Given the description of an element on the screen output the (x, y) to click on. 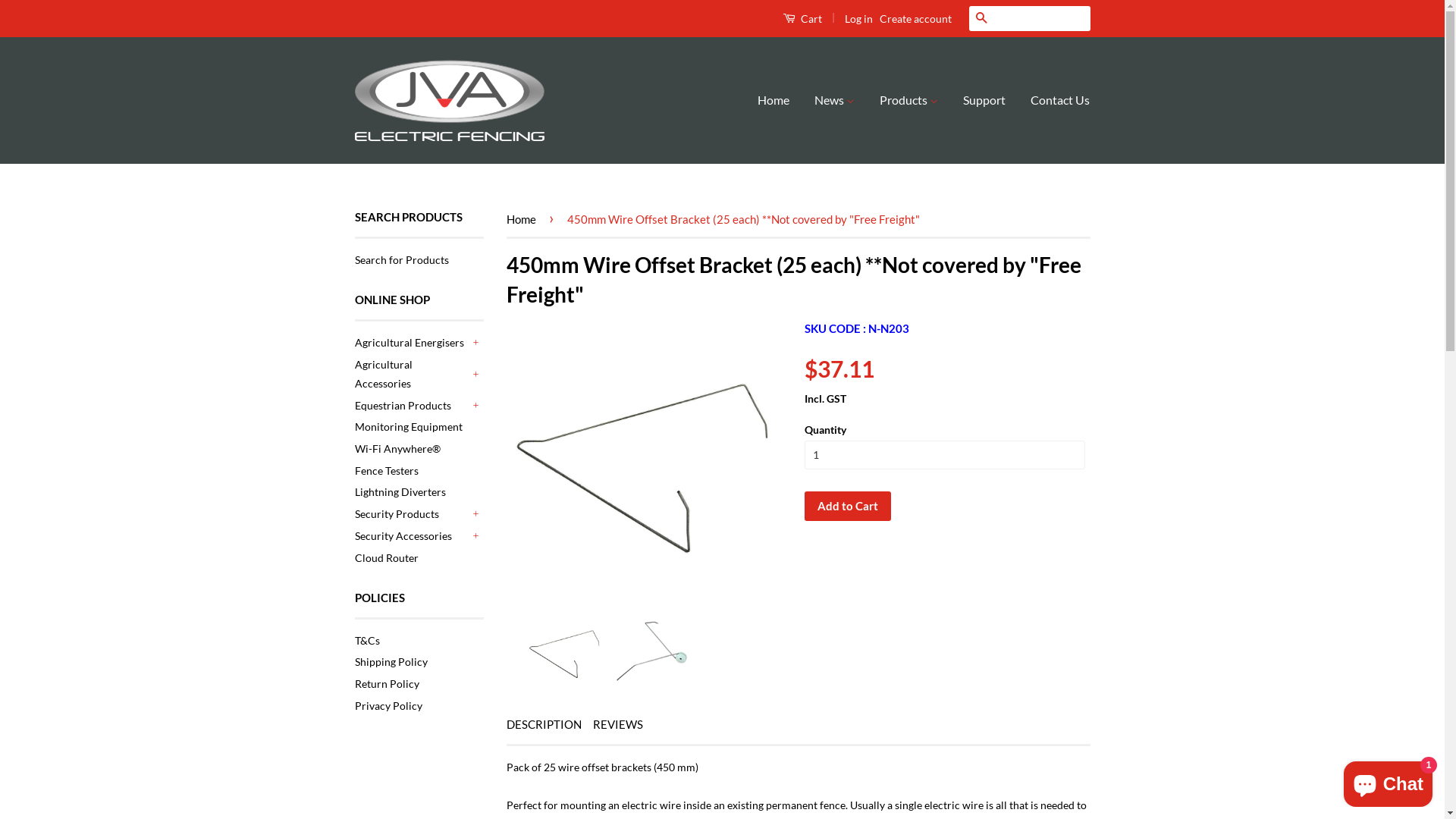
REVIEWS Element type: text (618, 724)
Monitoring Equipment Element type: text (408, 426)
Shipping Policy Element type: text (390, 661)
Agricultural Energisers Element type: text (411, 341)
+ Element type: text (475, 404)
Security Accessories Element type: text (411, 535)
+ Element type: text (475, 534)
Search Element type: text (981, 18)
Security Products Element type: text (411, 513)
+ Element type: text (475, 342)
Cloud Router Element type: text (386, 556)
Create account Element type: text (915, 18)
T&Cs Element type: text (366, 639)
Return Policy Element type: text (386, 683)
Contact Us Element type: text (1054, 100)
+ Element type: text (475, 513)
Log in Element type: text (858, 18)
Support Element type: text (983, 100)
Lightning Diverters Element type: text (399, 491)
Home Element type: text (523, 218)
Cart Element type: text (802, 17)
Privacy Policy Element type: text (388, 705)
Products Element type: text (908, 100)
Add to Cart Element type: text (846, 505)
Agricultural Accessories Element type: text (411, 373)
Shopify online store chat Element type: hover (1388, 780)
Fence Testers Element type: text (386, 470)
Equestrian Products Element type: text (411, 404)
Search for Products Element type: text (401, 259)
Home Element type: text (778, 100)
DESCRIPTION Element type: text (543, 724)
News Element type: text (834, 100)
+ Element type: text (475, 373)
